Given the description of an element on the screen output the (x, y) to click on. 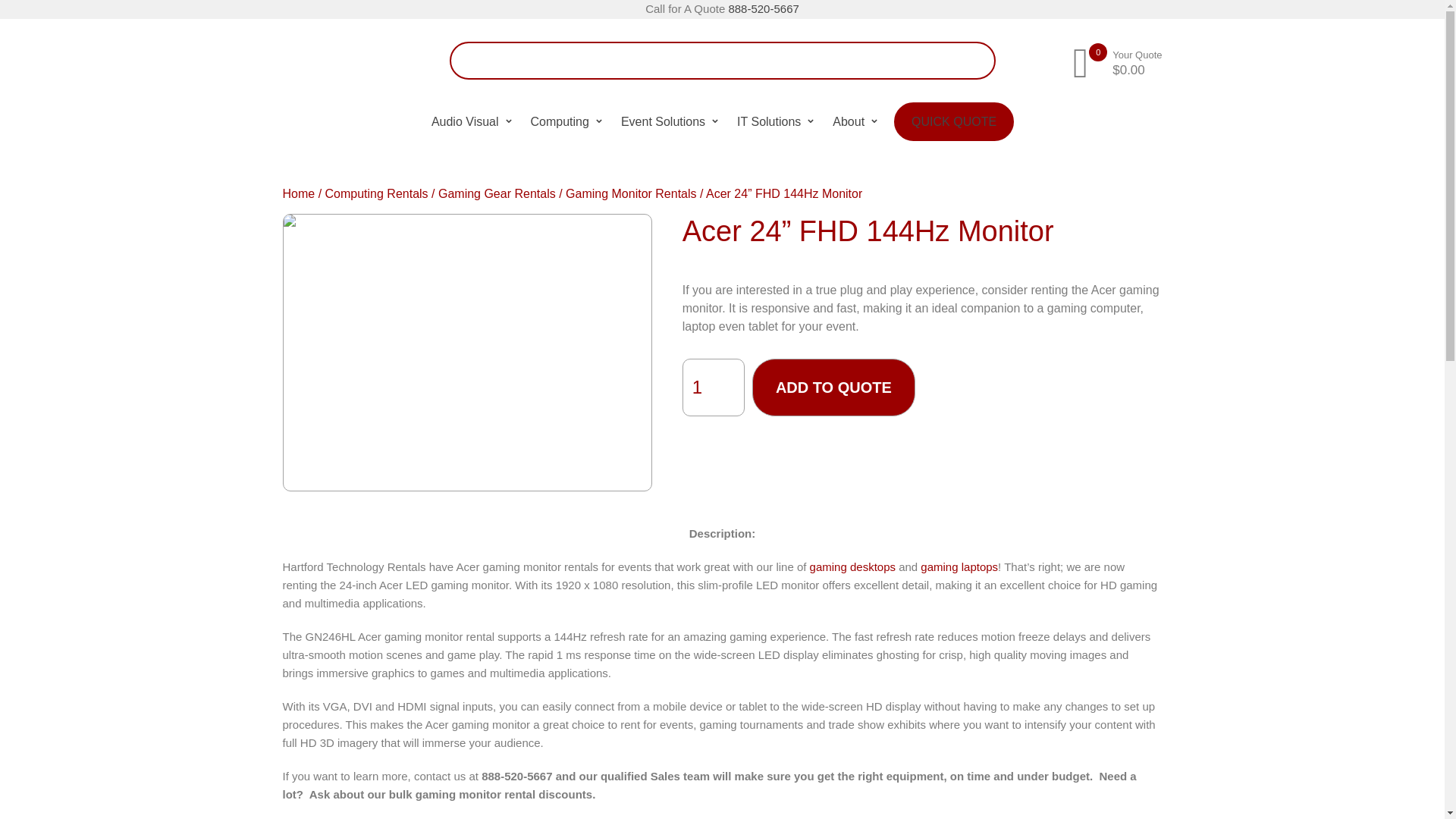
888-520-5667 (762, 8)
0 (1079, 60)
1 (713, 387)
